Given the description of an element on the screen output the (x, y) to click on. 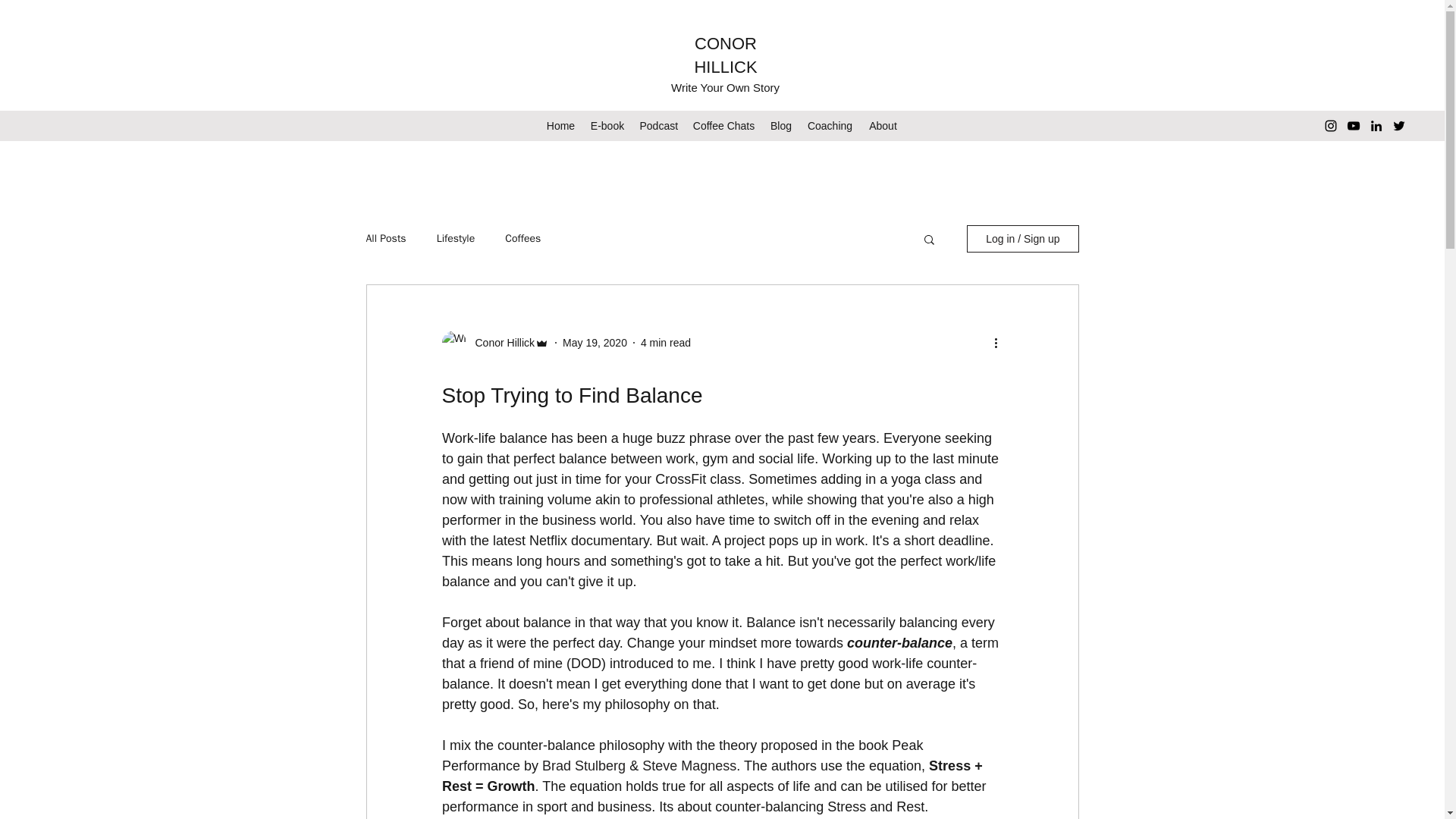
About (882, 125)
Blog (780, 125)
May 19, 2020 (594, 342)
4 min read (665, 342)
Coffees (522, 238)
Steve Magness (689, 765)
Coffee Chats (723, 125)
All Posts (385, 238)
E-book (606, 125)
Coaching (829, 125)
Podcast (658, 125)
Brad Stulberg (583, 765)
Conor Hillick (499, 342)
Lifestyle (456, 238)
Home (560, 125)
